Given the description of an element on the screen output the (x, y) to click on. 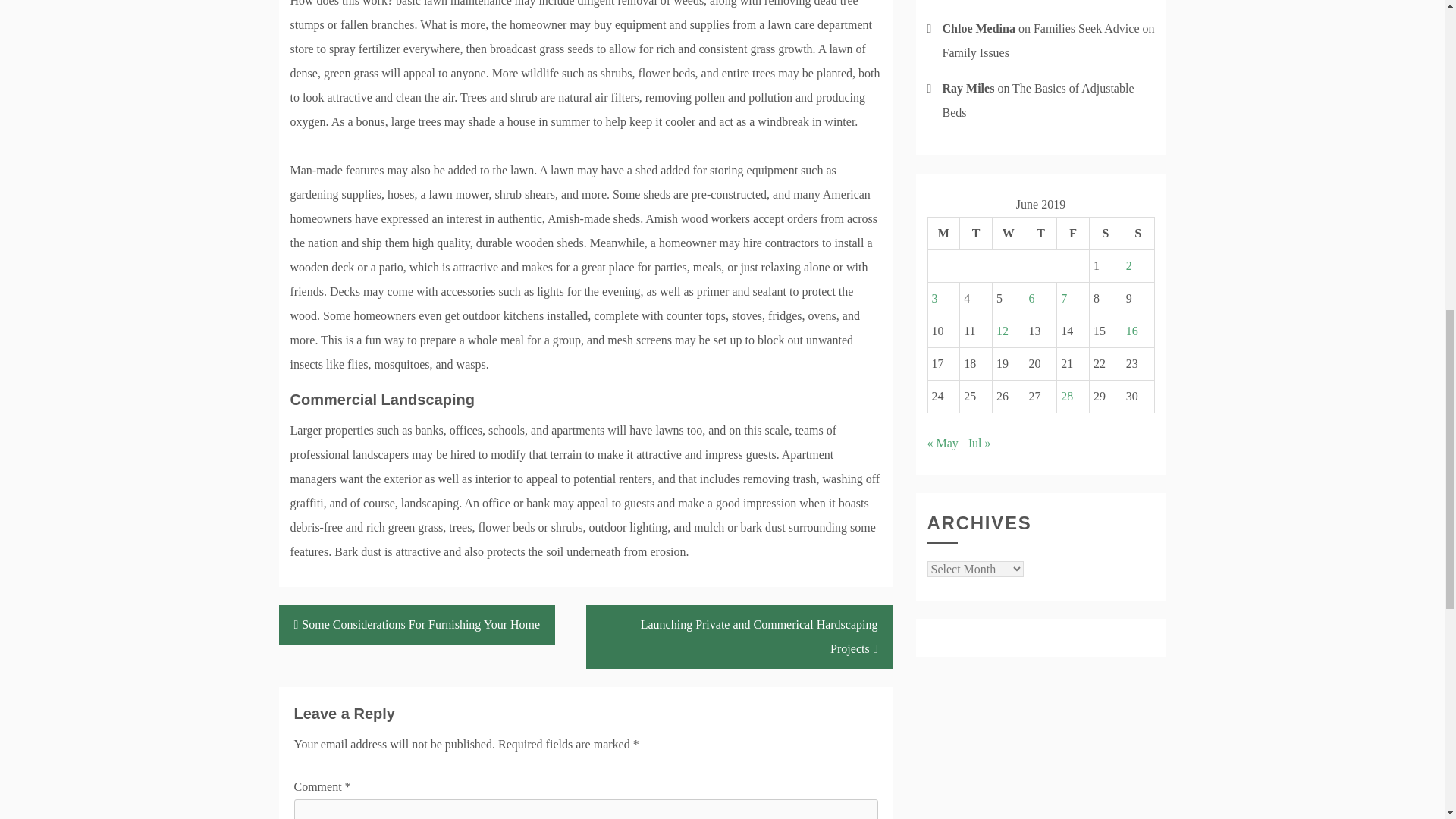
Sunday (1137, 233)
12 (1002, 330)
Monday (943, 233)
Tuesday (975, 233)
28 (1067, 395)
Saturday (1105, 233)
Some Considerations For Furnishing Your Home (417, 624)
Wednesday (1008, 233)
Families Seek Advice on Family Issues (1048, 40)
Thursday (1041, 233)
The Basics of Adjustable Beds (1038, 99)
Launching Private and Commerical Hardscaping Projects (738, 637)
Friday (1073, 233)
16 (1131, 330)
